Given the description of an element on the screen output the (x, y) to click on. 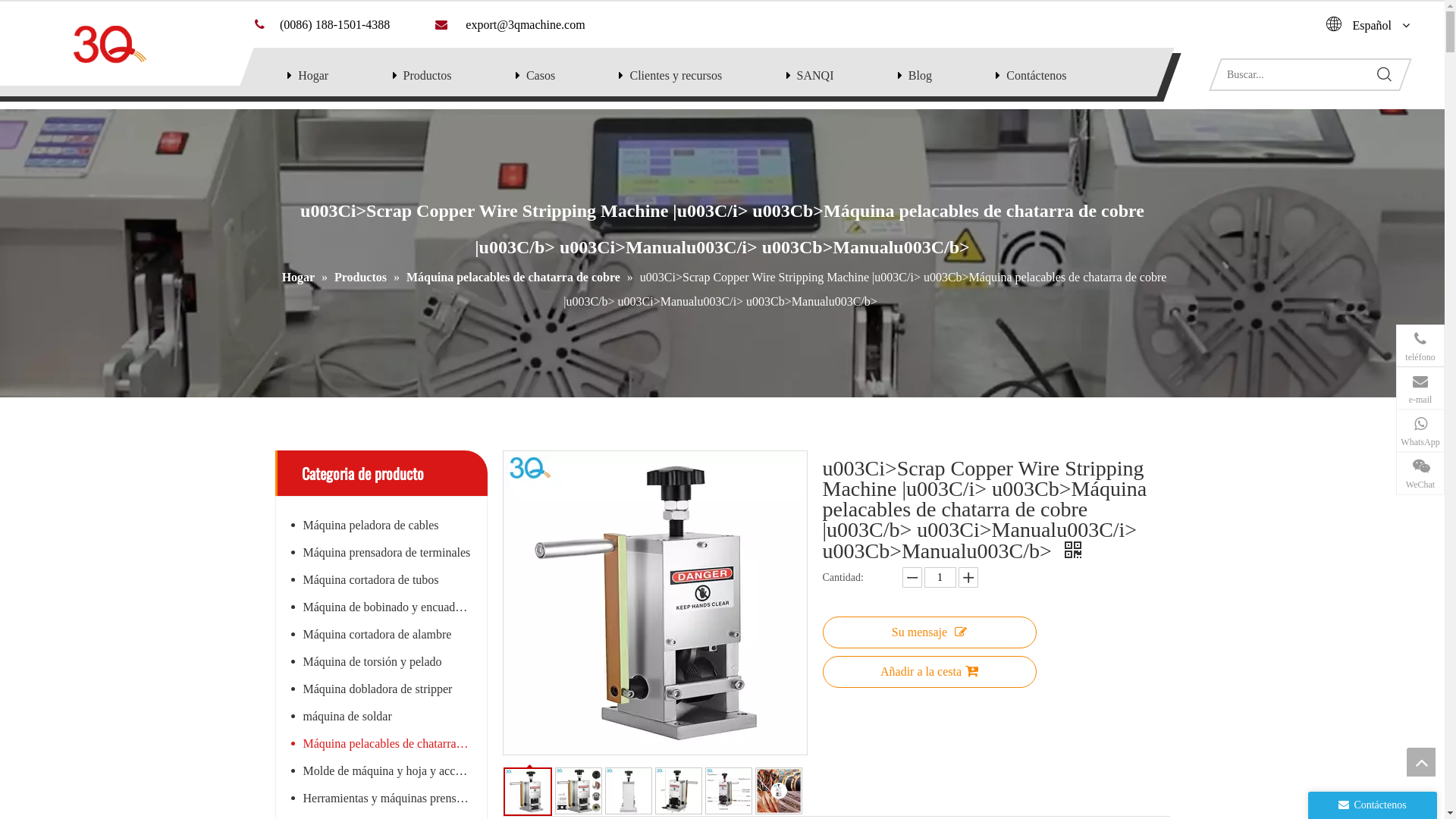
Hogar Element type: text (313, 75)
SANQI Element type: text (815, 75)
e-mail Element type: text (1420, 388)
Clientes y recursos Element type: text (675, 75)
+ 86 18815014388 Element type: text (1338, 434)
Blog Element type: text (919, 75)
Su mensaje Element type: text (928, 632)
top Element type: text (1420, 761)
+ 86 18815014388 Element type: text (1338, 349)
Casos Element type: text (540, 75)
Productos Element type: text (427, 75)
WeChat Element type: text (1420, 473)
WhatsApp Element type: text (1420, 430)
export@3qmachine.com Element type: text (1326, 391)
Productos Element type: text (361, 276)
Hogar Element type: text (299, 276)
Wechat Element type: text (1287, 664)
